Given the description of an element on the screen output the (x, y) to click on. 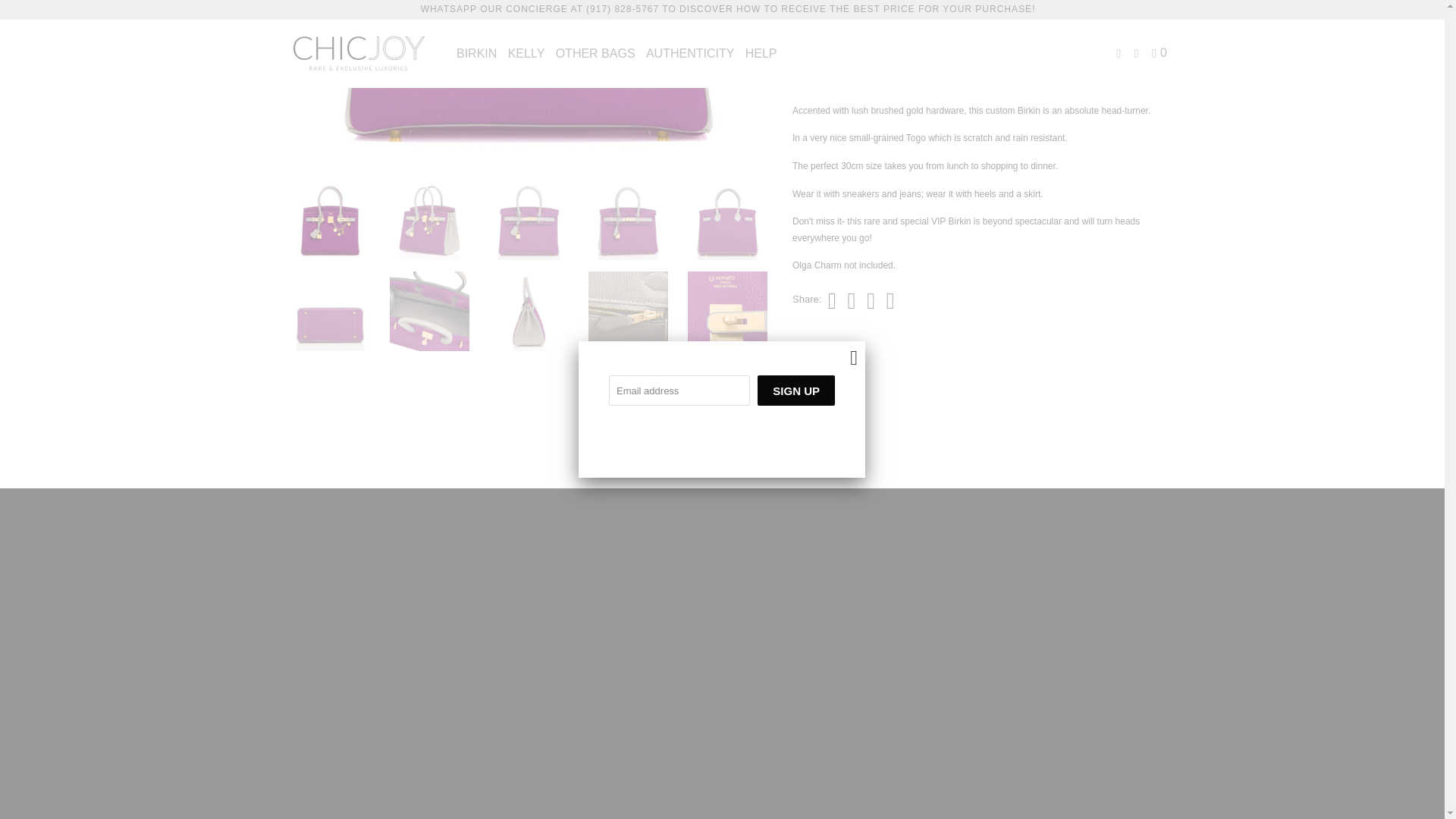
American Express (697, 762)
PayPal (824, 762)
Discover (740, 762)
Visa (865, 762)
Sign Up (795, 47)
Mastercard (782, 762)
